Given the description of an element on the screen output the (x, y) to click on. 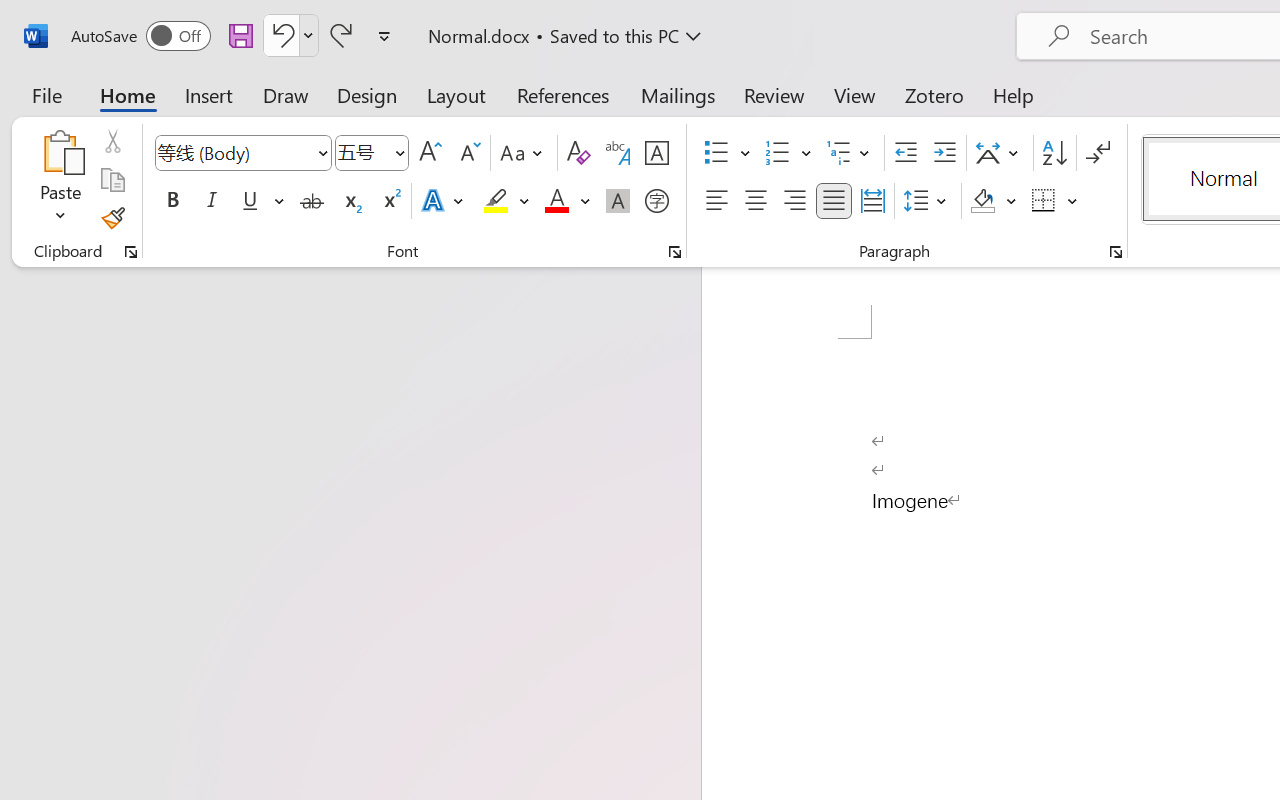
Strikethrough (312, 201)
Font Color RGB(255, 0, 0) (556, 201)
Cut (112, 141)
Justify (834, 201)
Superscript (390, 201)
Decrease Indent (906, 153)
Subscript (350, 201)
Clear Formatting (578, 153)
Undo Typing (290, 35)
Change Case (524, 153)
